Given the description of an element on the screen output the (x, y) to click on. 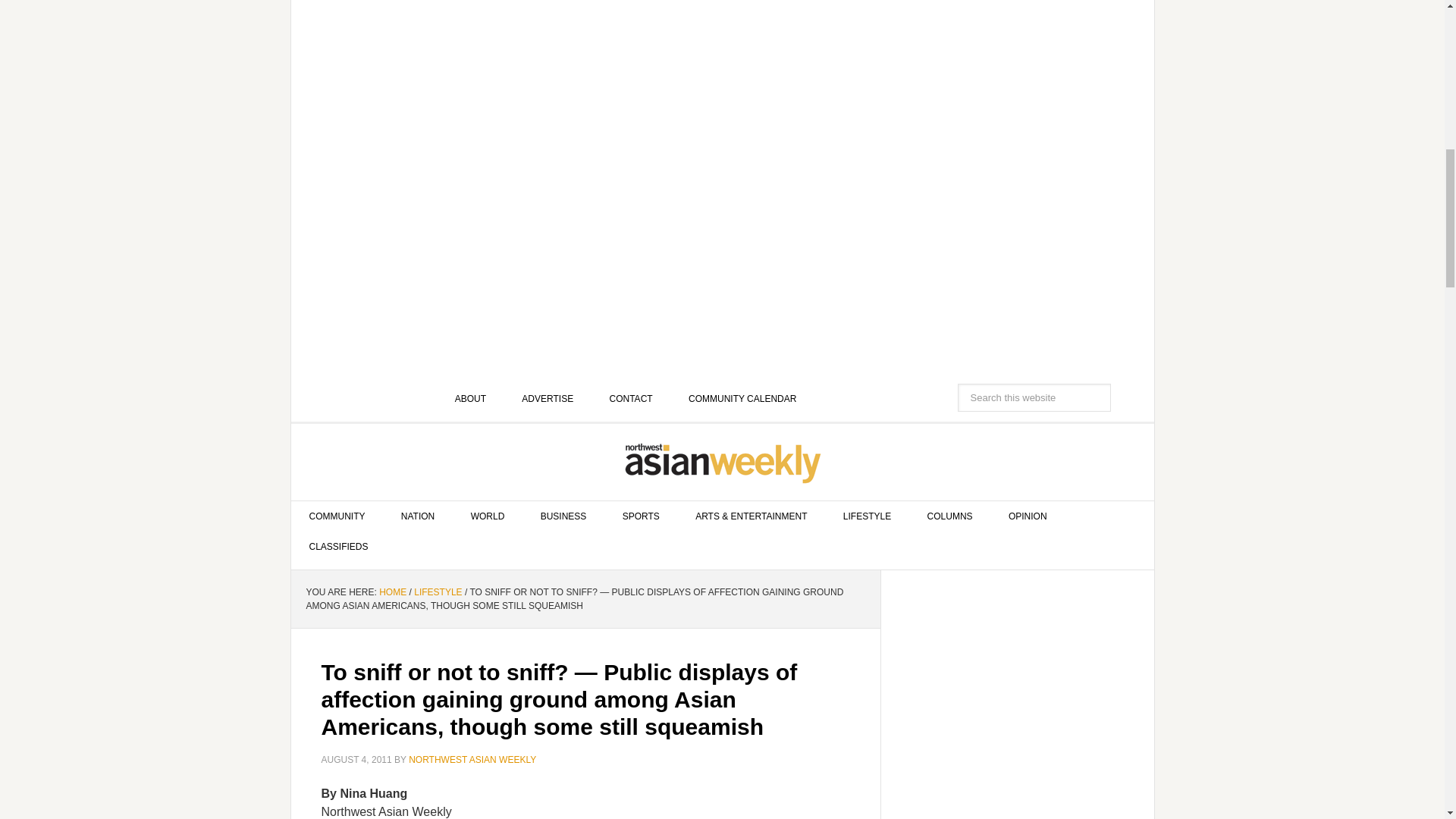
ABOUT (469, 399)
COLUMNS (949, 516)
CONTACT (631, 399)
WORLD (487, 516)
CLASSIFIEDS (339, 546)
OPINION (1027, 516)
NORTHWEST ASIAN WEEKLY (722, 461)
ADVERTISE (547, 399)
COMMUNITY (337, 516)
